Given the description of an element on the screen output the (x, y) to click on. 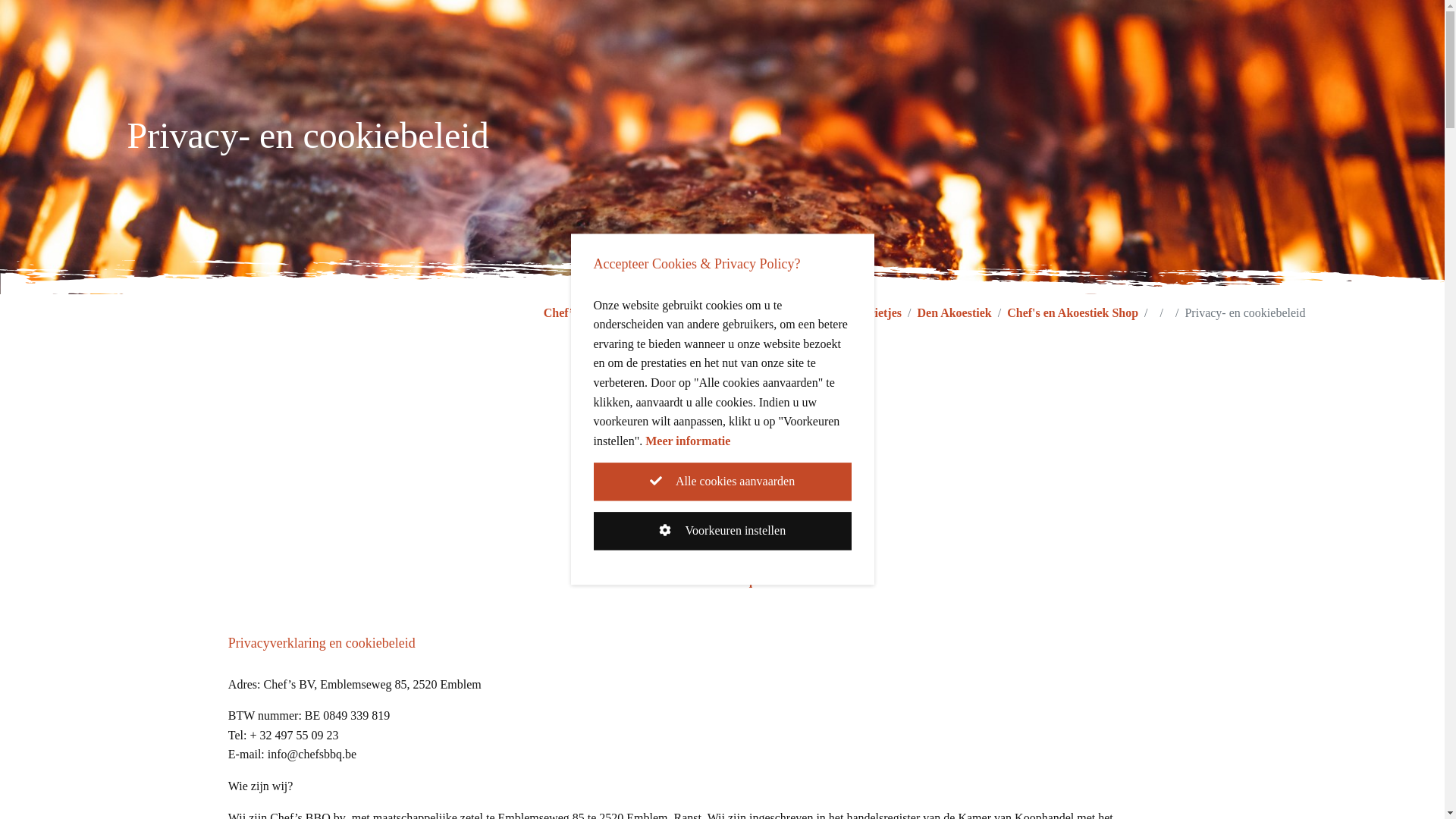
Chef's en Akoestiek Shop Element type: text (1072, 313)
Voorkeuren instellen Element type: text (721, 531)
Alle cookies aanvaarden Element type: text (721, 482)
Chef's Catering Element type: text (662, 313)
Chef's Cassonade Element type: text (763, 313)
Den Akoestiek Element type: text (953, 313)
Chef's Frietjes Element type: text (863, 313)
www.chefsbbq.be Element type: text (722, 580)
Meer informatie Element type: text (687, 440)
